Given the description of an element on the screen output the (x, y) to click on. 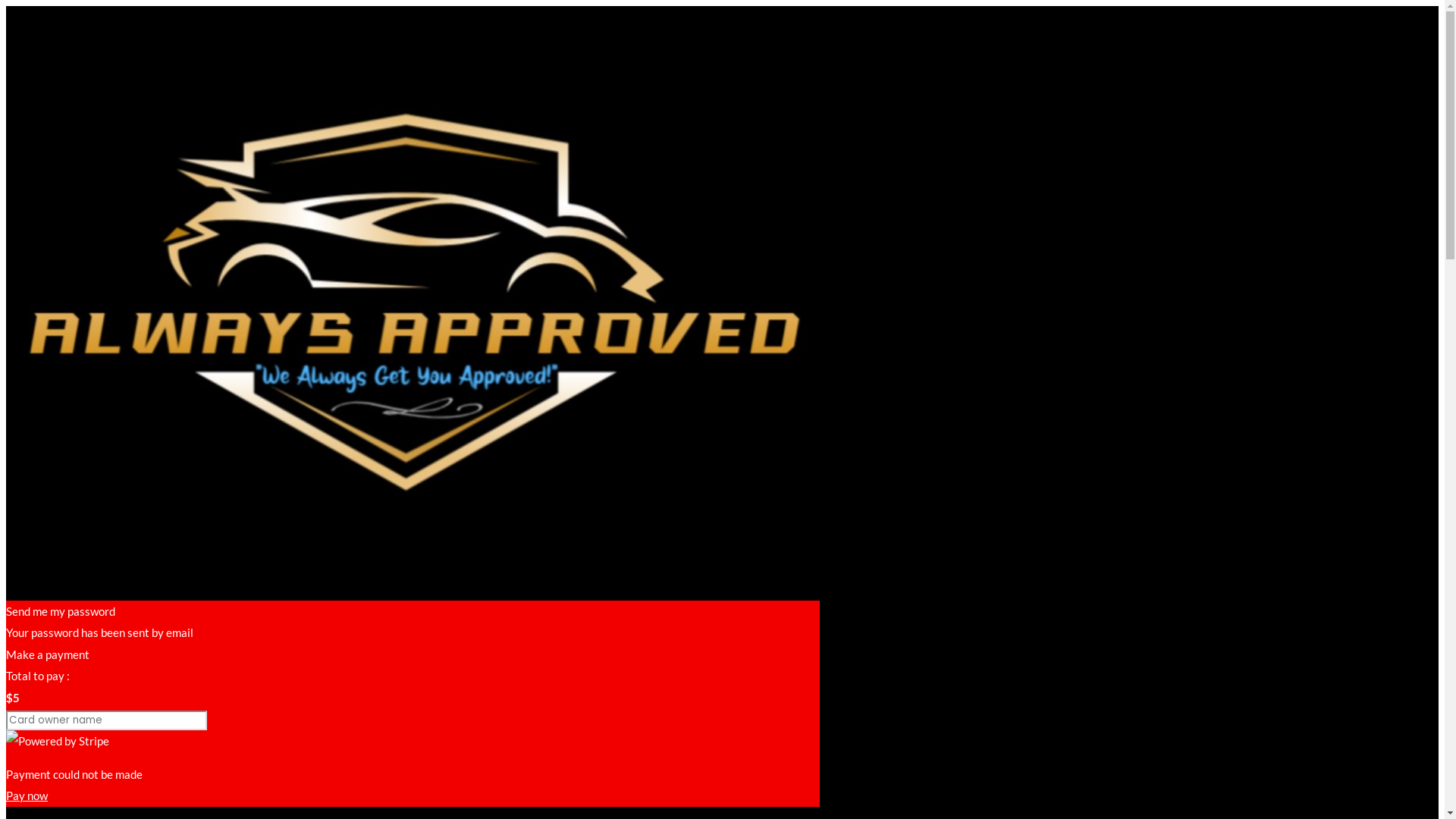
always approved logo Element type: hover (415, 284)
Pay now Element type: text (26, 795)
